Given the description of an element on the screen output the (x, y) to click on. 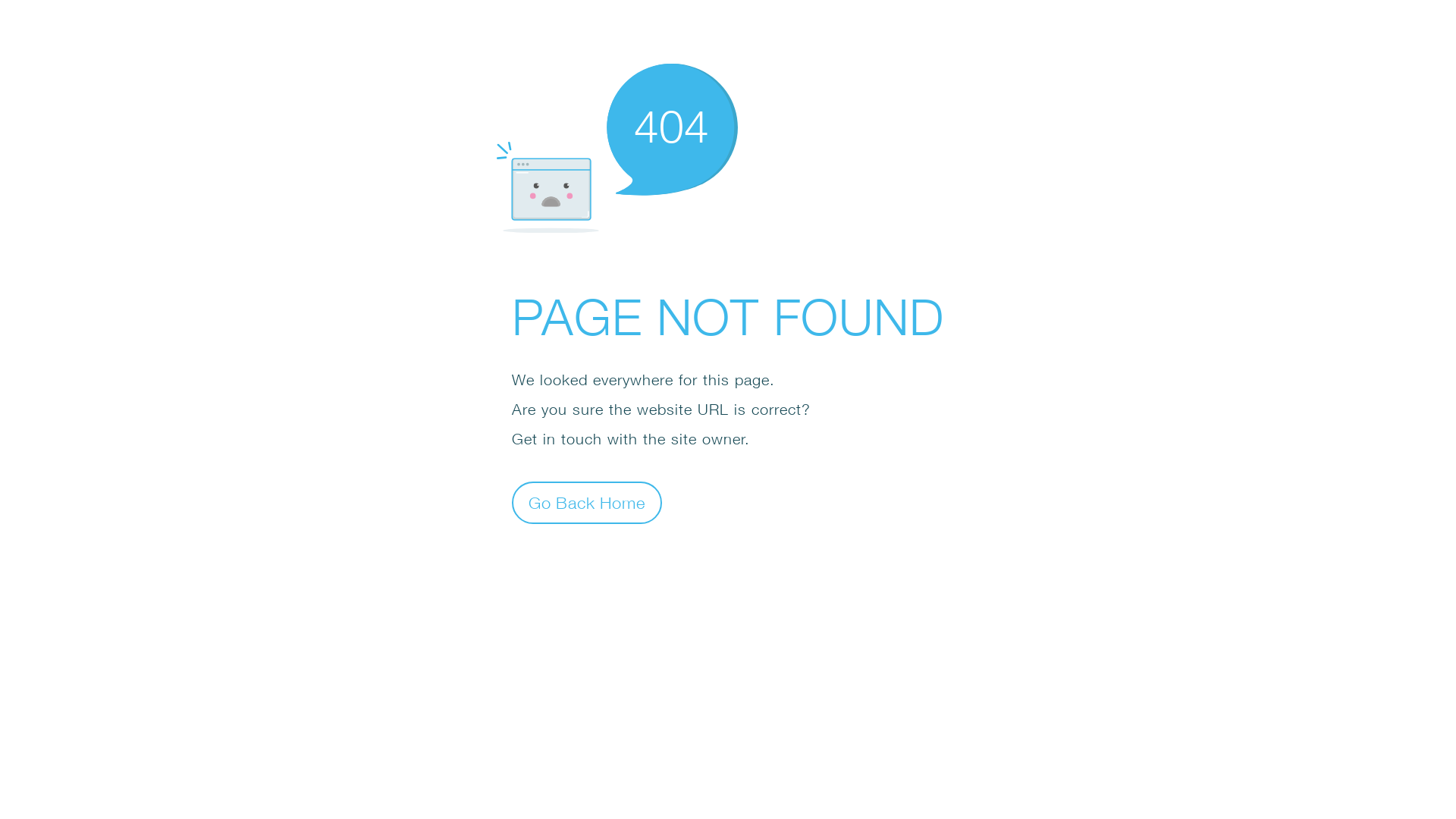
Go Back Home Element type: text (586, 502)
